Given the description of an element on the screen output the (x, y) to click on. 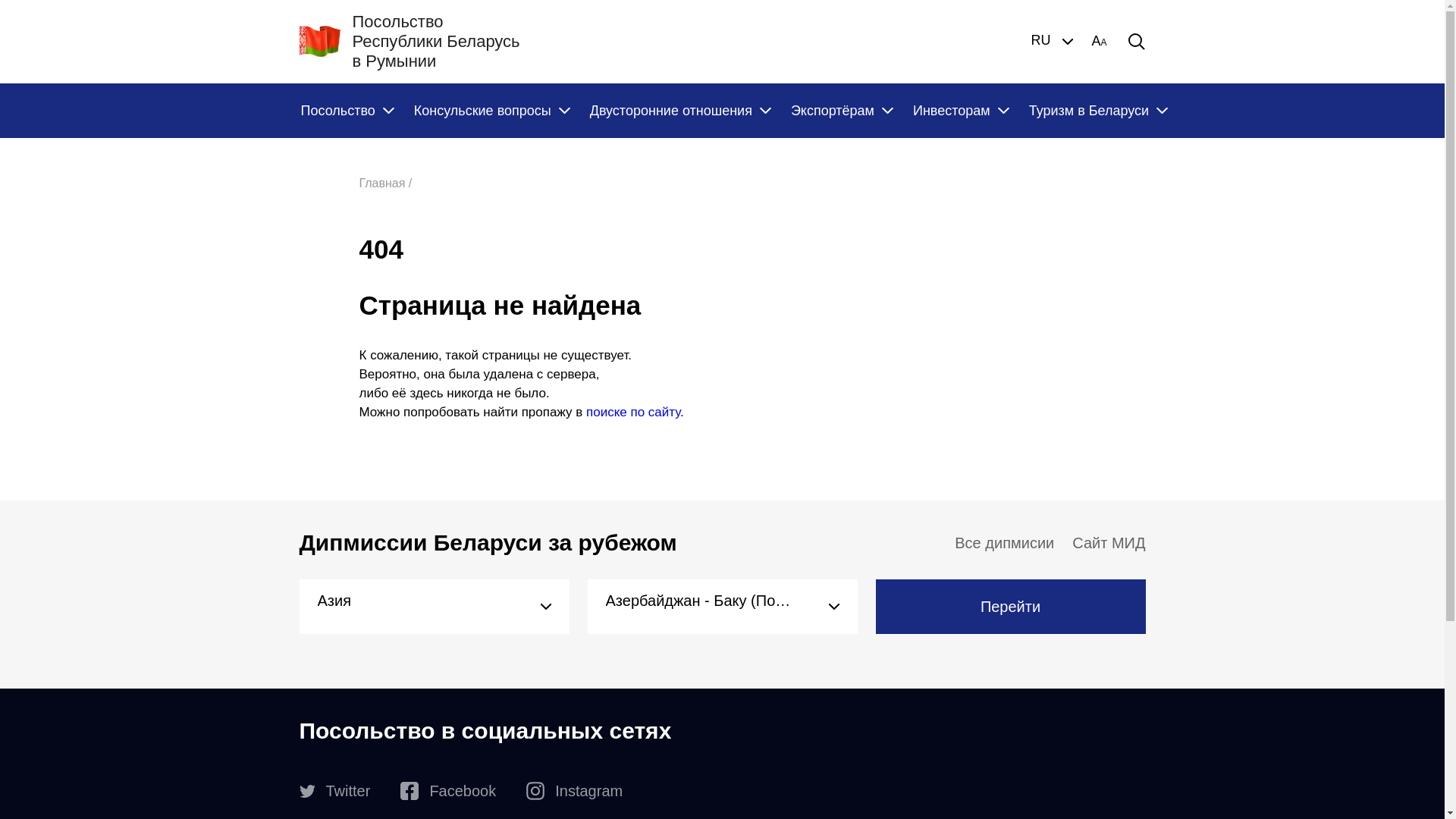
AA Element type: text (1098, 41)
Facebook Element type: text (447, 790)
Twitter Element type: text (334, 790)
Instagram Element type: text (574, 790)
